Given the description of an element on the screen output the (x, y) to click on. 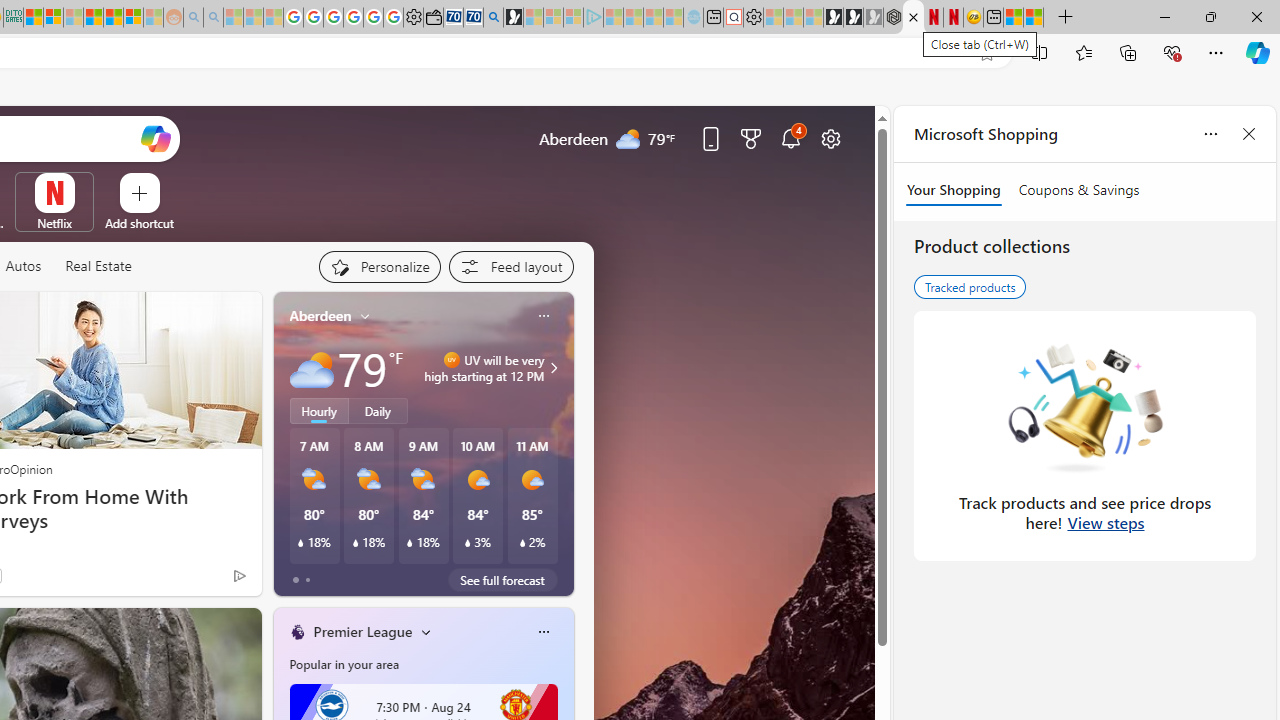
More interests (426, 631)
tab-0 (295, 579)
More Options (86, 179)
Class: weather-current-precipitation-glyph (522, 543)
next (563, 443)
Aberdeen (320, 315)
